Given the description of an element on the screen output the (x, y) to click on. 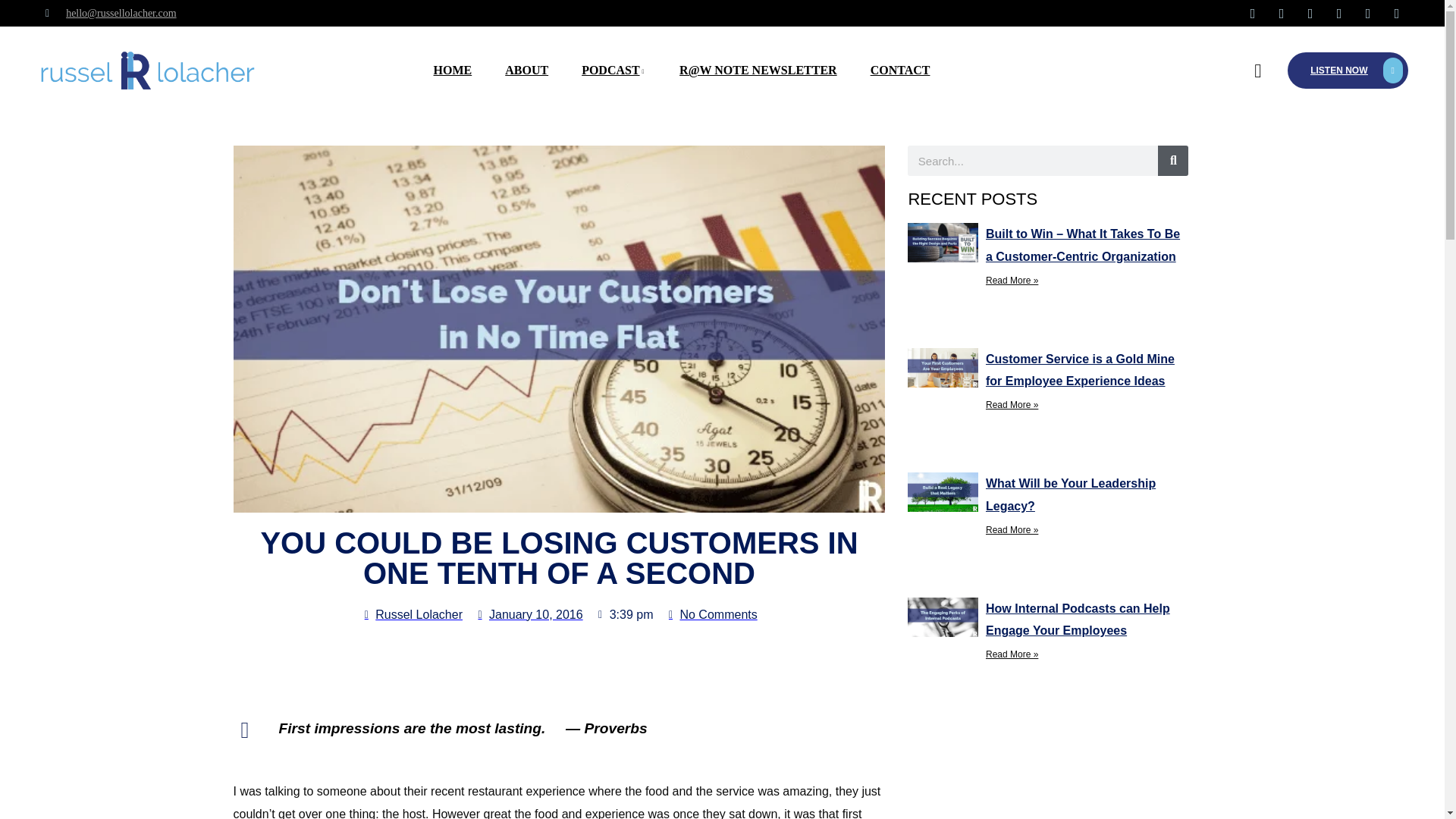
HOME (452, 69)
PODCAST (613, 69)
CONTACT (900, 69)
ABOUT (525, 69)
Russel Lolacher (412, 614)
January 10, 2016 (528, 614)
No Comments (711, 614)
LISTEN NOW (1347, 70)
